Given the description of an element on the screen output the (x, y) to click on. 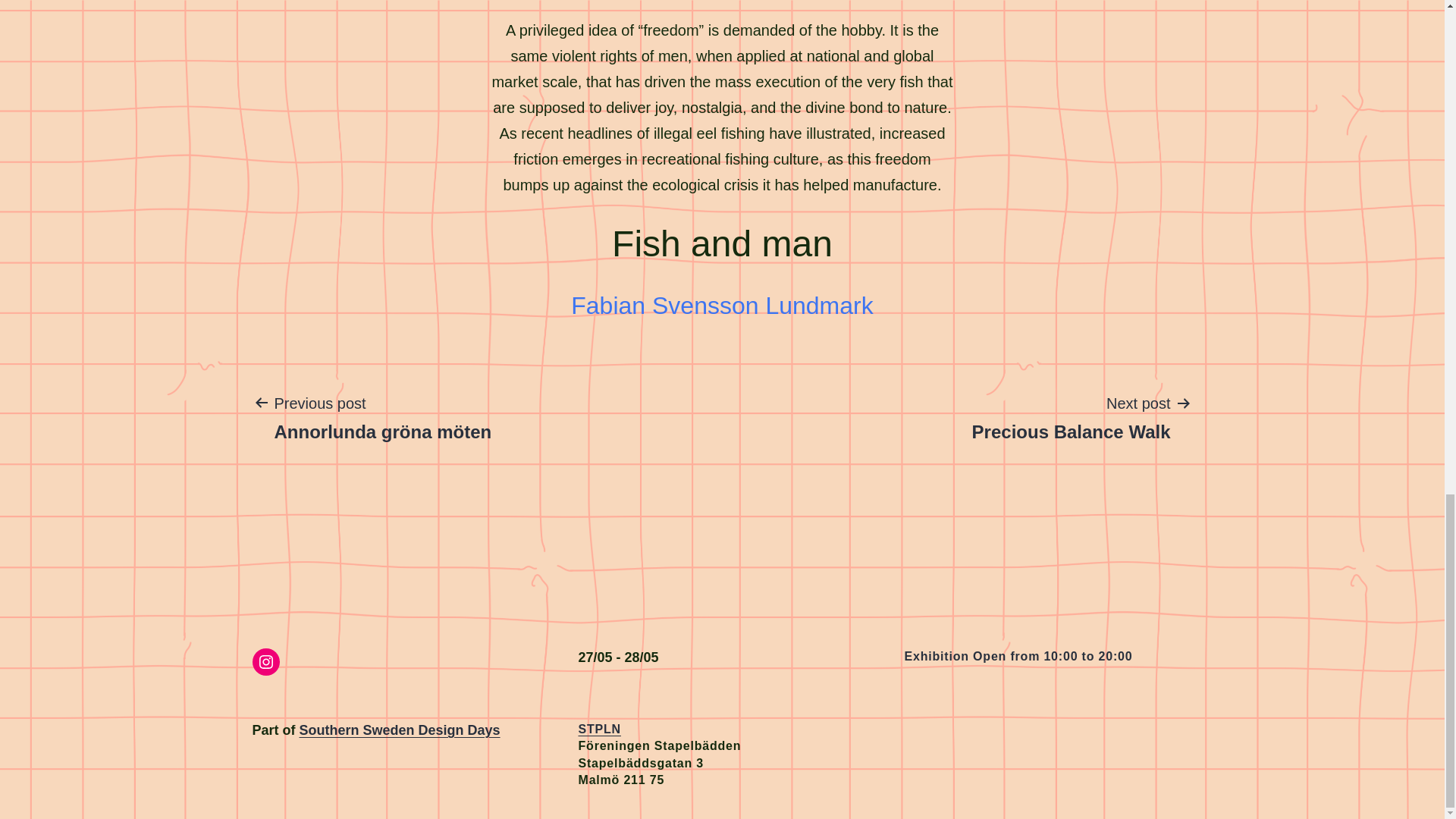
STPLN (599, 728)
Instagram (265, 661)
Southern Sweden Design Days (399, 729)
